Given the description of an element on the screen output the (x, y) to click on. 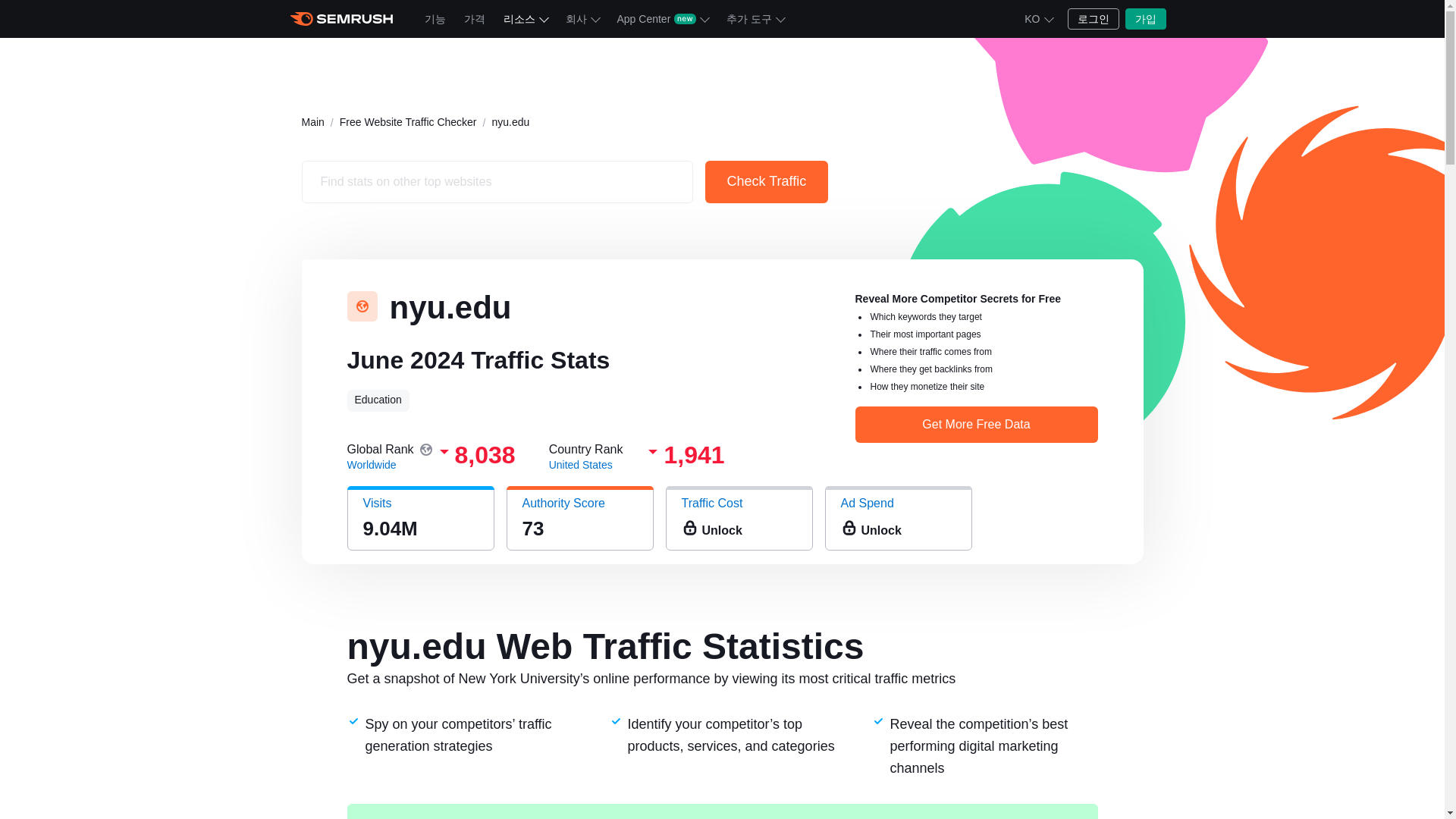
App Center (662, 18)
